Given the description of an element on the screen output the (x, y) to click on. 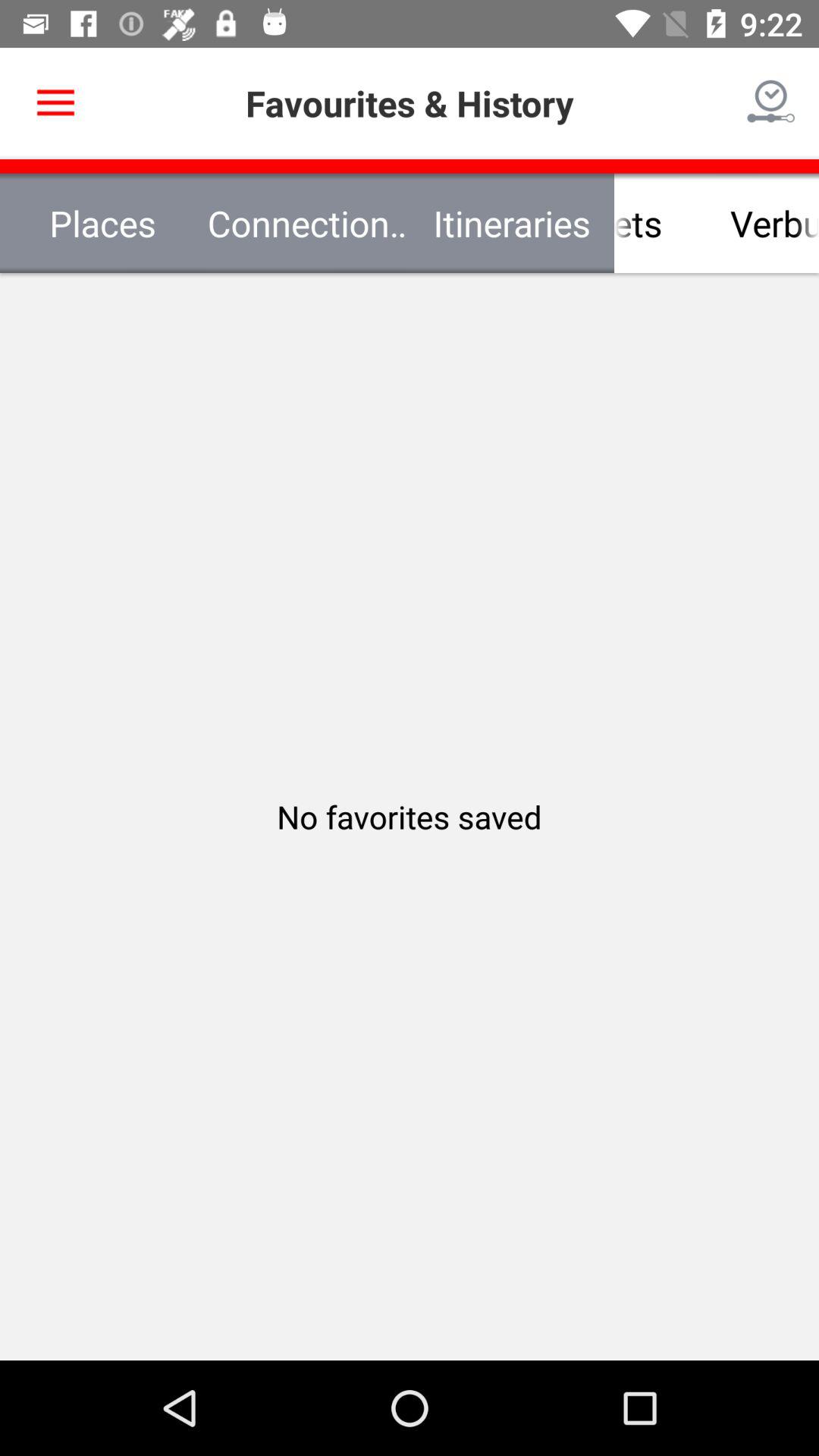
press item next to connection requests icon (716, 223)
